Given the description of an element on the screen output the (x, y) to click on. 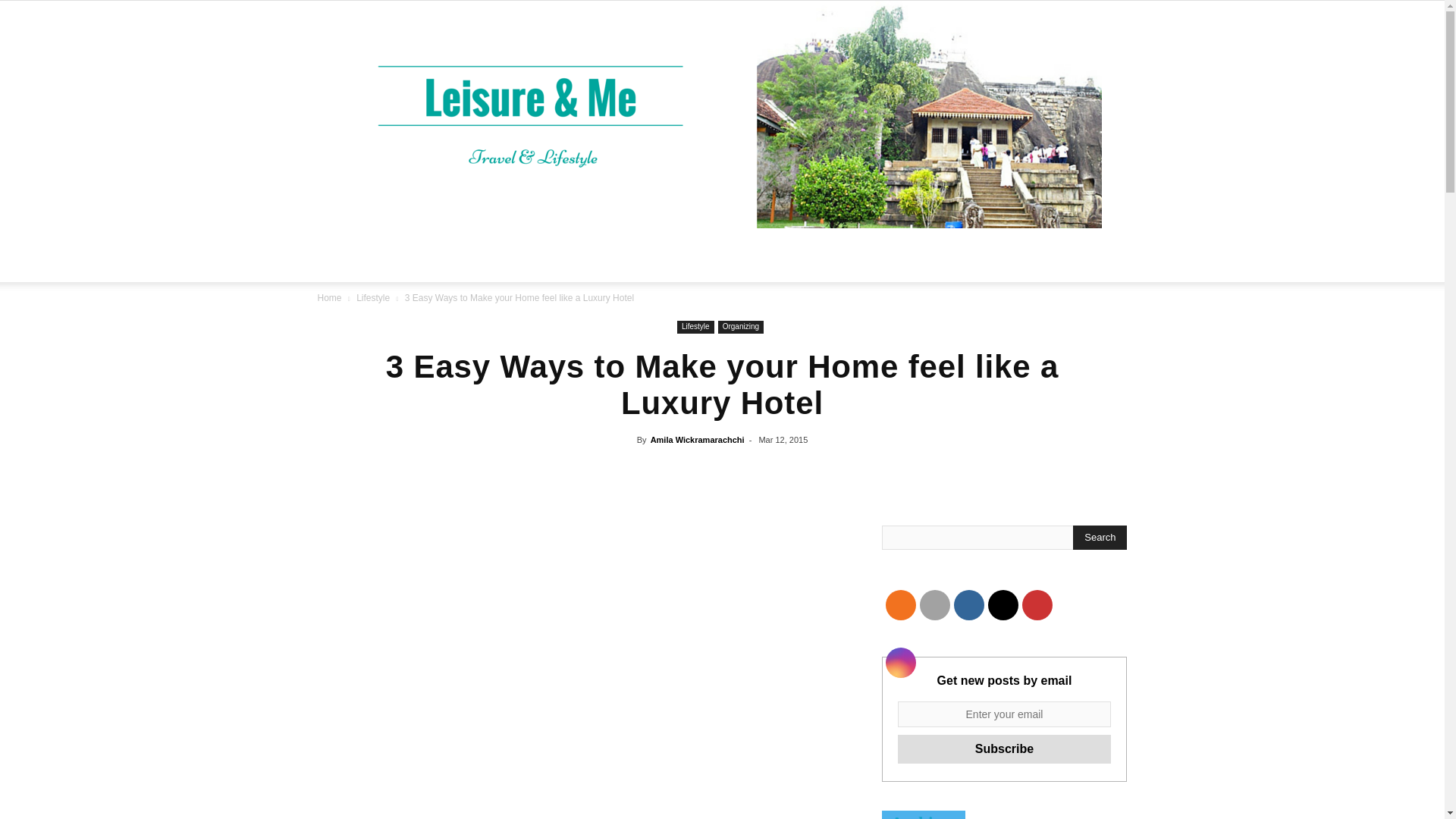
ABOUT ME (599, 254)
Subscribe (1005, 748)
Search (1085, 324)
Lifestyle (373, 297)
CONTACT US (835, 254)
Home (328, 297)
Lifestyle (695, 327)
WORK WITH ME (713, 254)
Amila Wickramarachchi (697, 439)
